Given the description of an element on the screen output the (x, y) to click on. 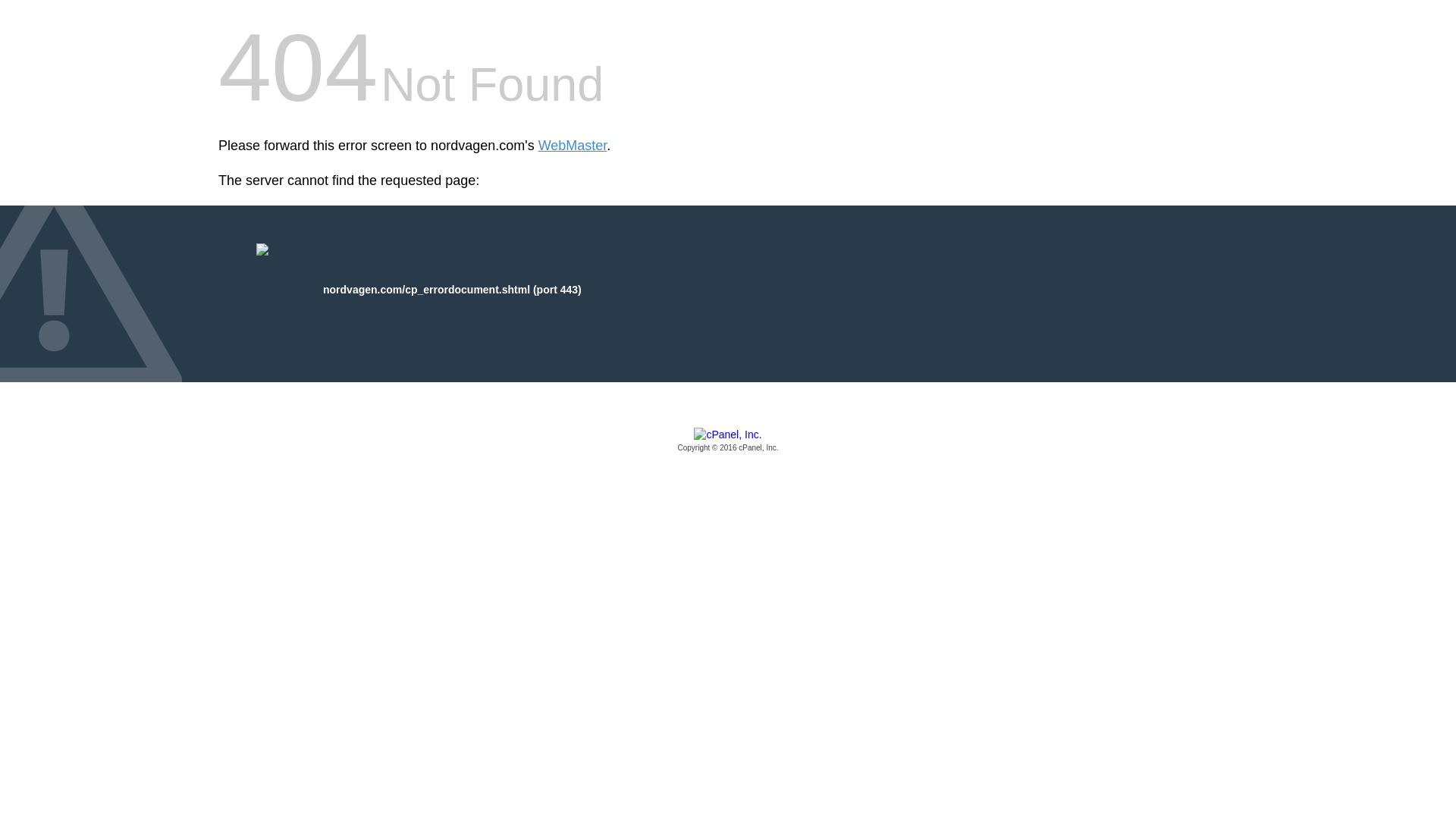
cPanel, Inc. (727, 440)
WebMaster (572, 145)
